Given the description of an element on the screen output the (x, y) to click on. 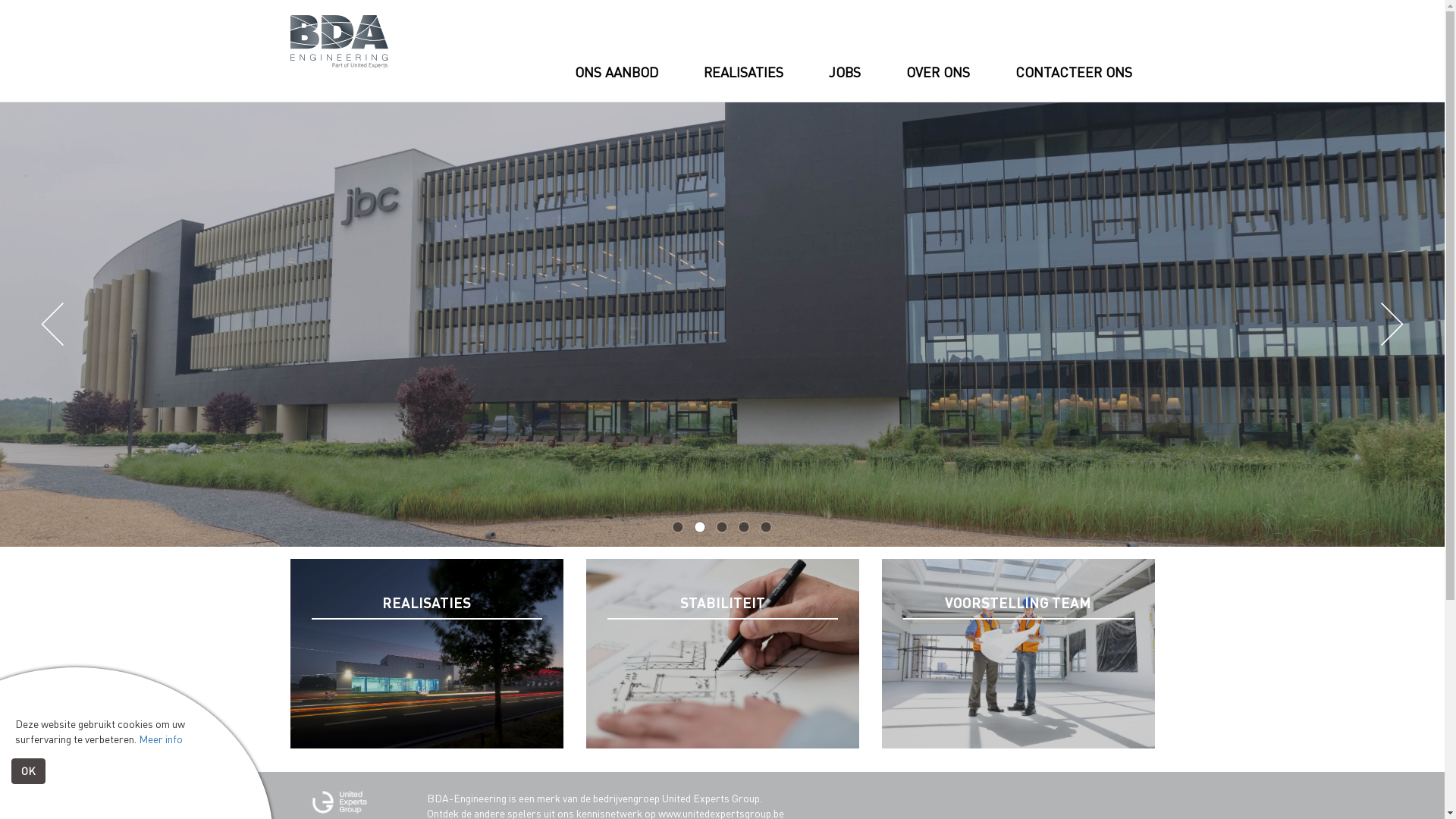
OK Element type: text (28, 771)
VOORSTELLING TEAM Element type: text (1017, 653)
REALISATIES Element type: text (743, 88)
OVER ONS Element type: text (936, 85)
REALISATIES Element type: text (425, 653)
BDA-Engineering Element type: hover (338, 41)
ONS AANBOD Element type: text (616, 89)
CONTACTEER ONS Element type: text (1072, 96)
JOBS Element type: text (843, 79)
STABILITEIT Element type: text (721, 653)
Meer info Element type: text (160, 738)
